Given the description of an element on the screen output the (x, y) to click on. 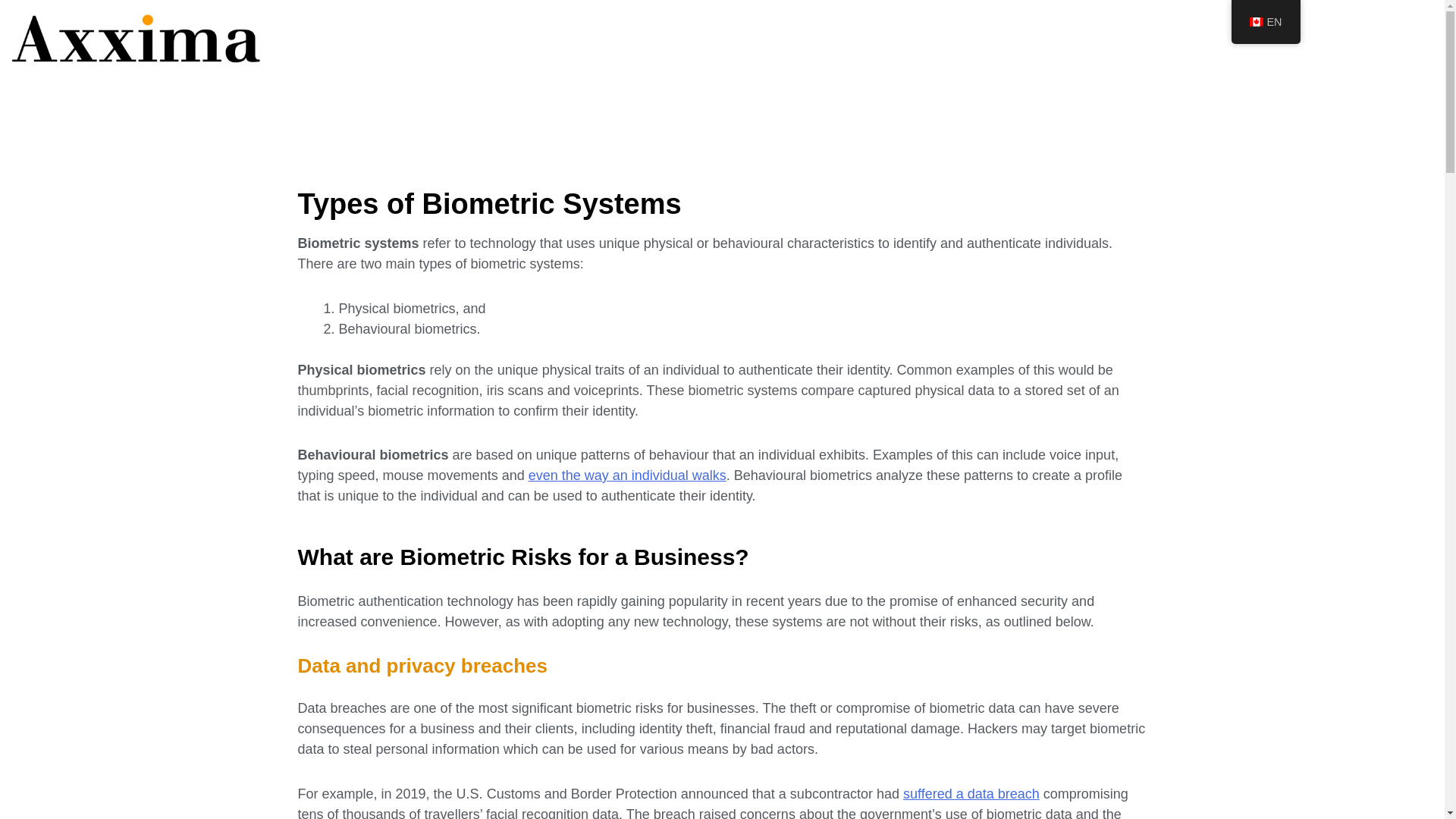
suffered a data breach (970, 793)
EN (1265, 22)
even the way an individual walks (627, 475)
